Given the description of an element on the screen output the (x, y) to click on. 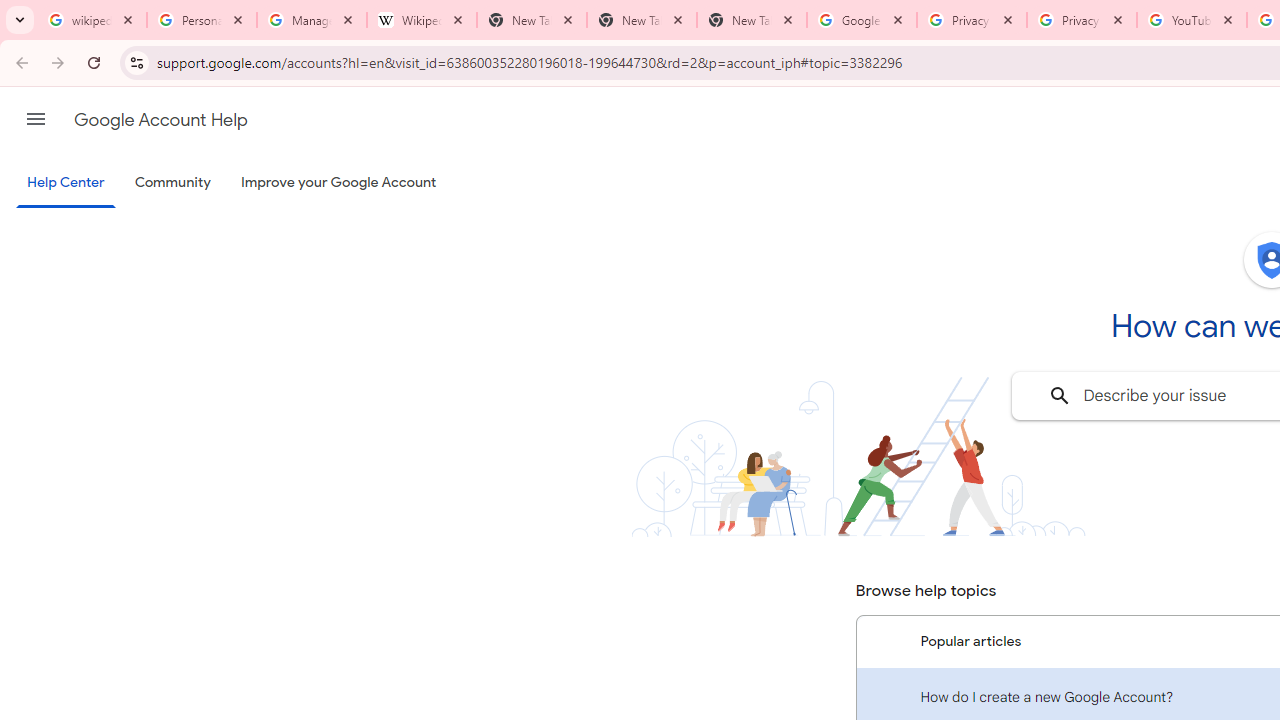
New Tab (752, 20)
Google Drive: Sign-in (861, 20)
Community (171, 183)
Personalization & Google Search results - Google Search Help (202, 20)
Improve your Google Account (339, 183)
Wikipedia:Edit requests - Wikipedia (422, 20)
New Tab (642, 20)
